Given the description of an element on the screen output the (x, y) to click on. 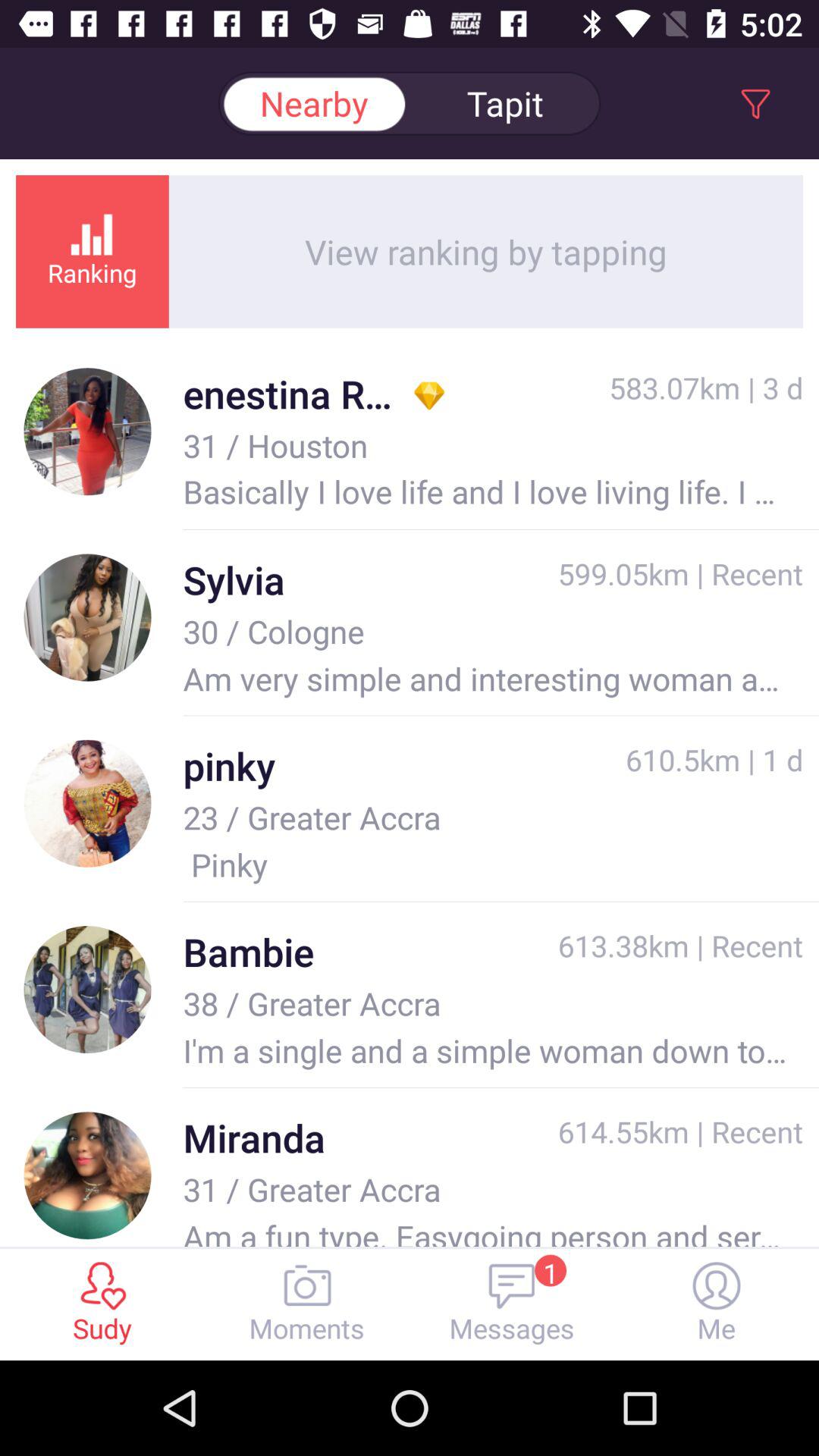
turn on the item to the right of nearby icon (504, 103)
